Given the description of an element on the screen output the (x, y) to click on. 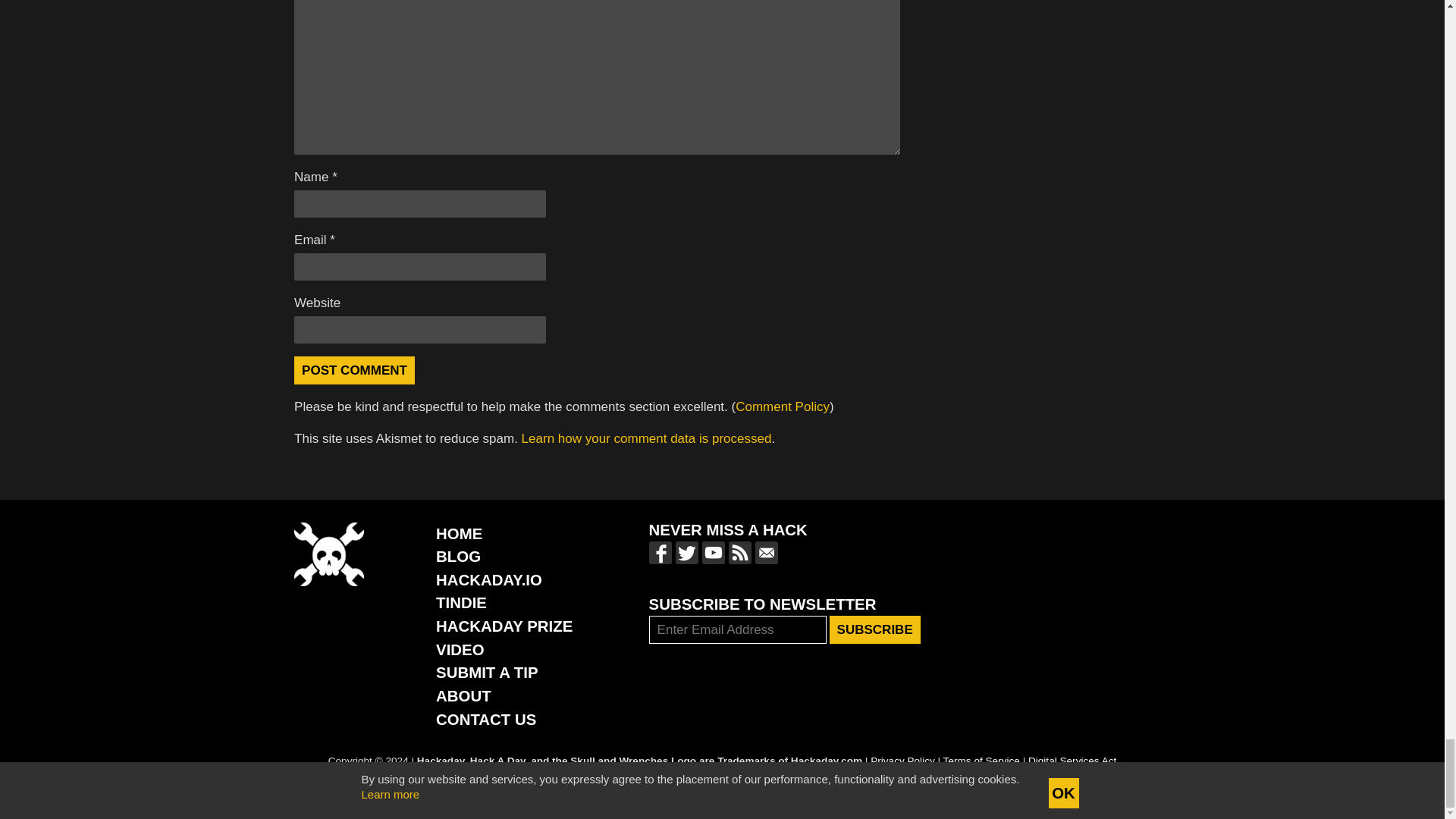
Subscribe (874, 629)
Post Comment (354, 370)
Build Something that Matters (503, 626)
